Given the description of an element on the screen output the (x, y) to click on. 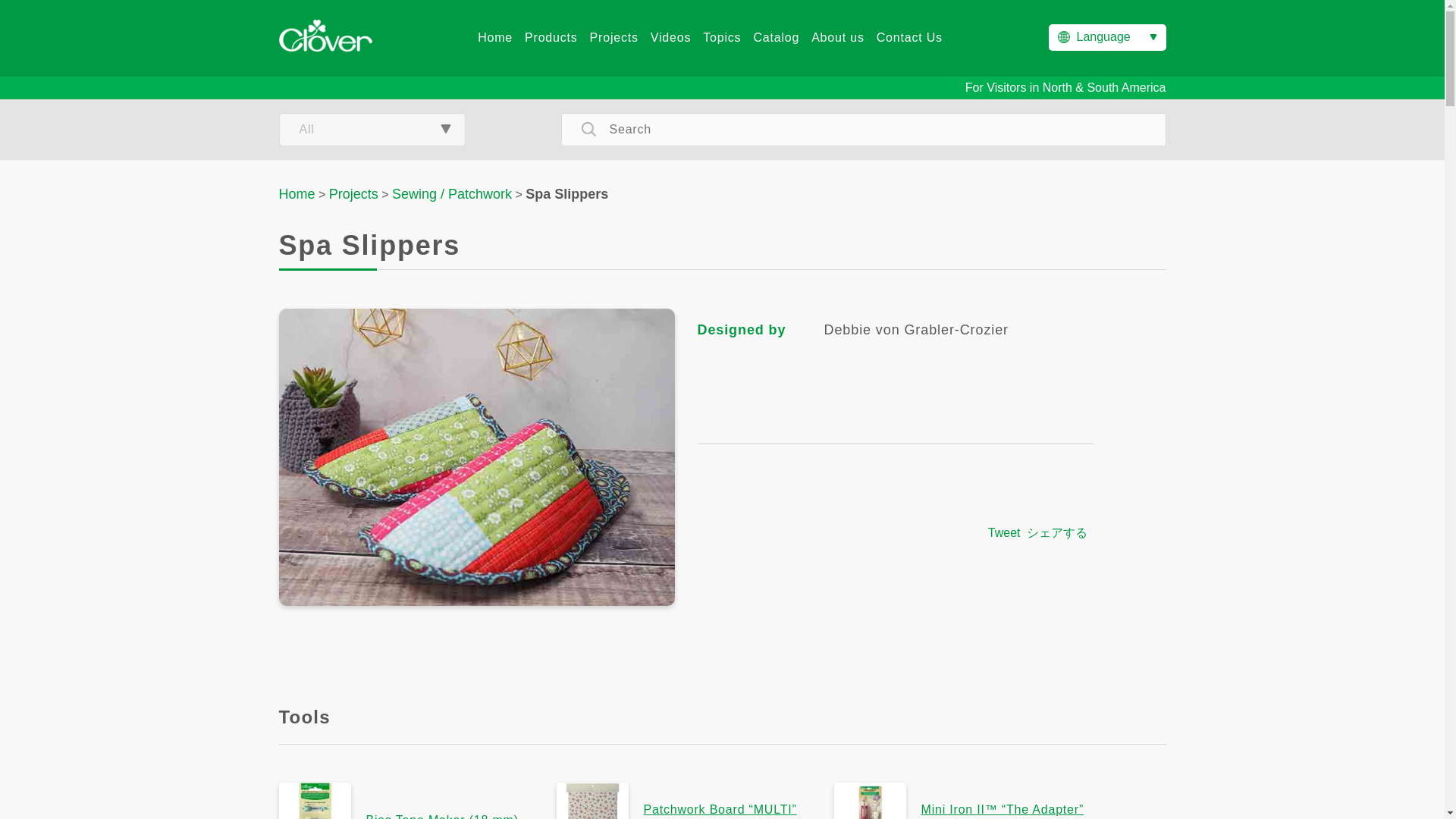
Home (494, 37)
Topics (722, 37)
About us (837, 37)
Tweet (1004, 532)
Go to Home. (297, 193)
Home (297, 193)
Videos (670, 37)
Projects (614, 37)
Products (551, 37)
Contact Us (909, 37)
Catalog (775, 37)
Go to Projects. (353, 193)
Projects (353, 193)
